Given the description of an element on the screen output the (x, y) to click on. 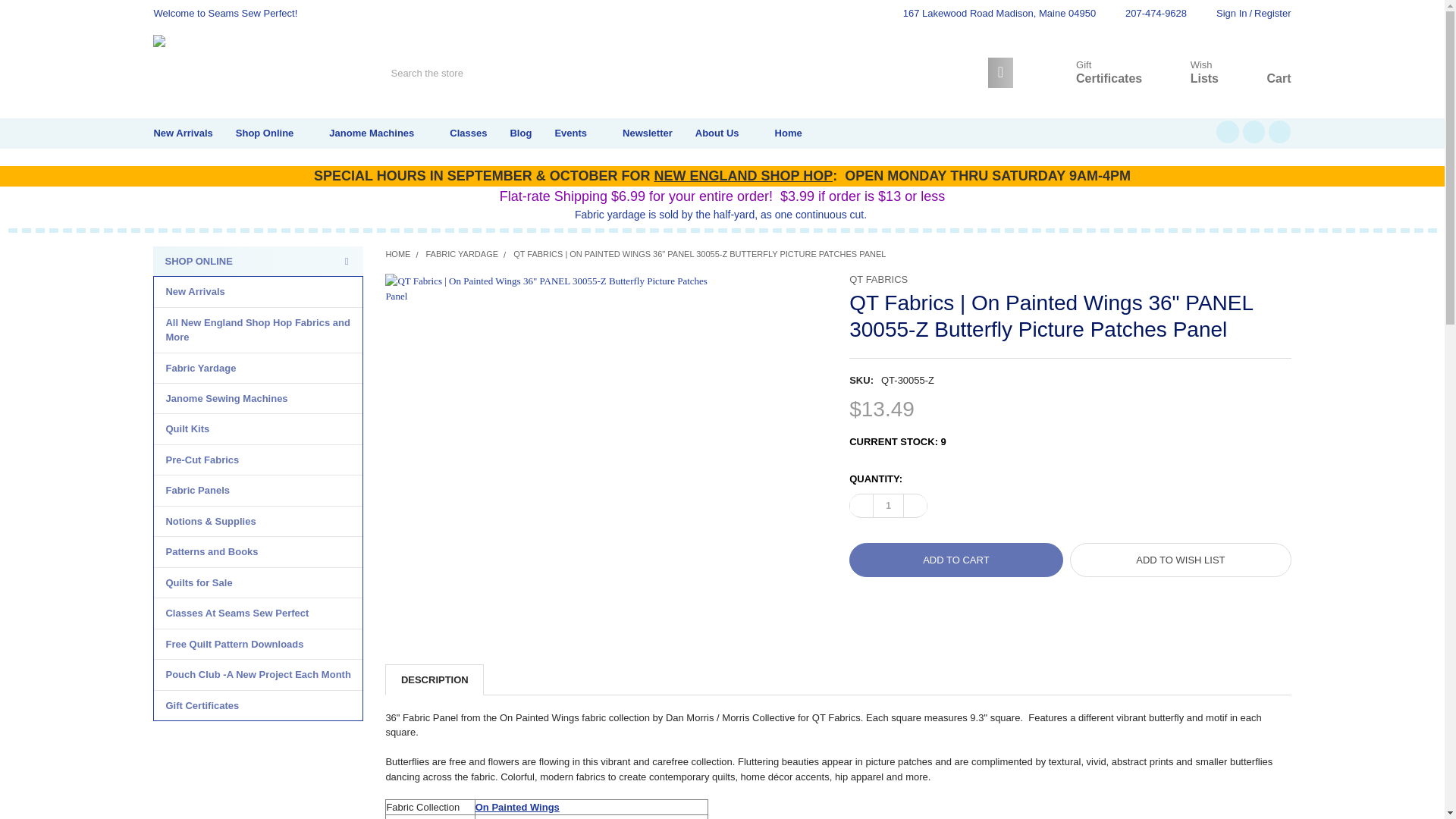
Facebook (1227, 131)
Search (995, 72)
Youtube (1187, 72)
Gift Certificates (1279, 131)
207-474-9628 (1091, 72)
Cart (1148, 13)
Wish Lists (1262, 74)
Register (1187, 72)
Instagram (1268, 13)
